Given the description of an element on the screen output the (x, y) to click on. 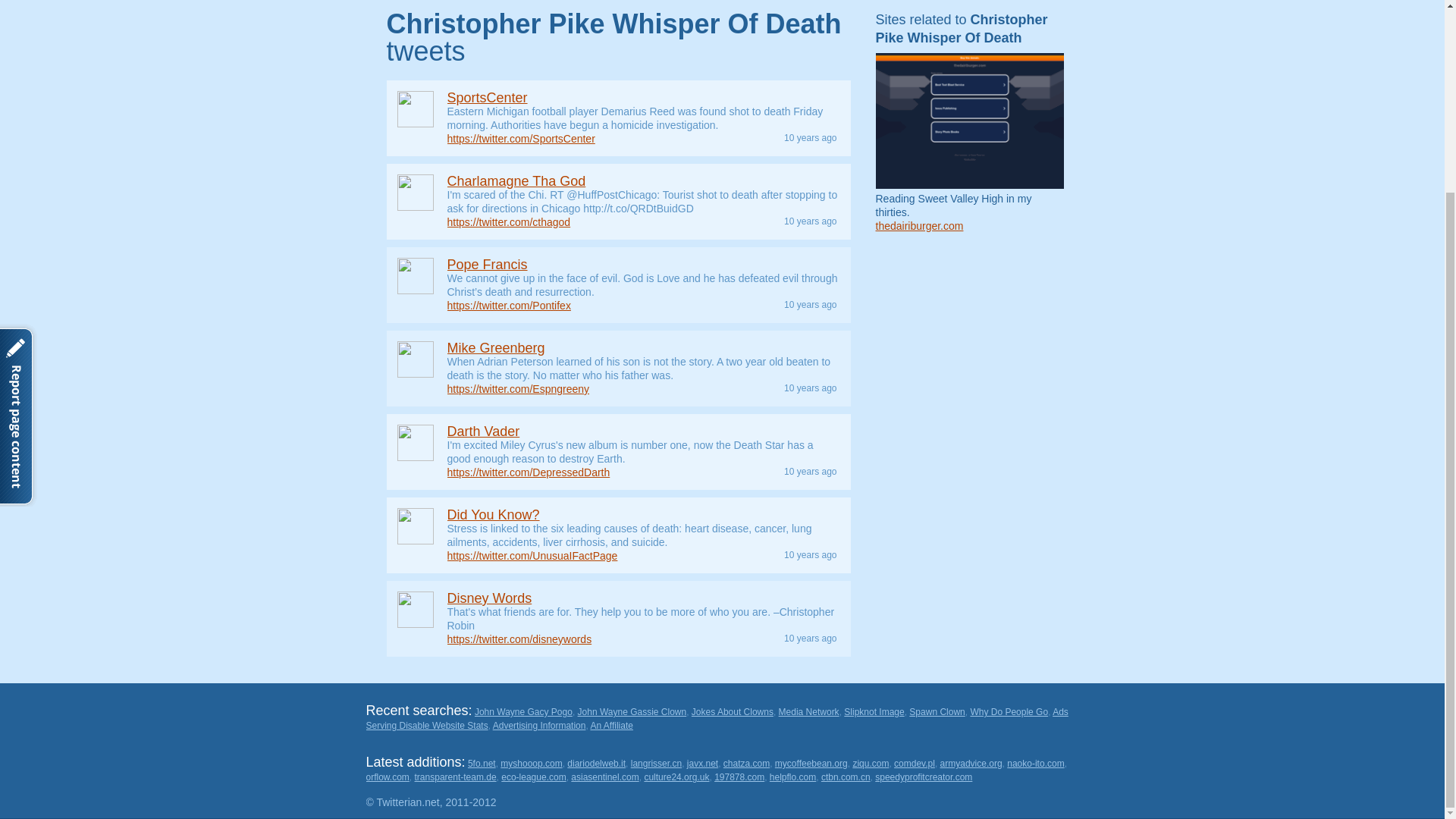
thedairiburger.com (918, 225)
Media Network (809, 711)
Ads Serving Disable Website Stats (716, 718)
javx.net (702, 763)
Disney Words (489, 598)
myshooop.com (531, 763)
diariodelweb.it (596, 763)
Pope Francis (486, 264)
Advertising Information (539, 725)
5fo.net (481, 763)
Mike Greenberg (495, 347)
langrisser.cn (655, 763)
Did You Know? (493, 514)
An Affiliate (610, 725)
John Wayne Gacy Pogo (523, 711)
